Given the description of an element on the screen output the (x, y) to click on. 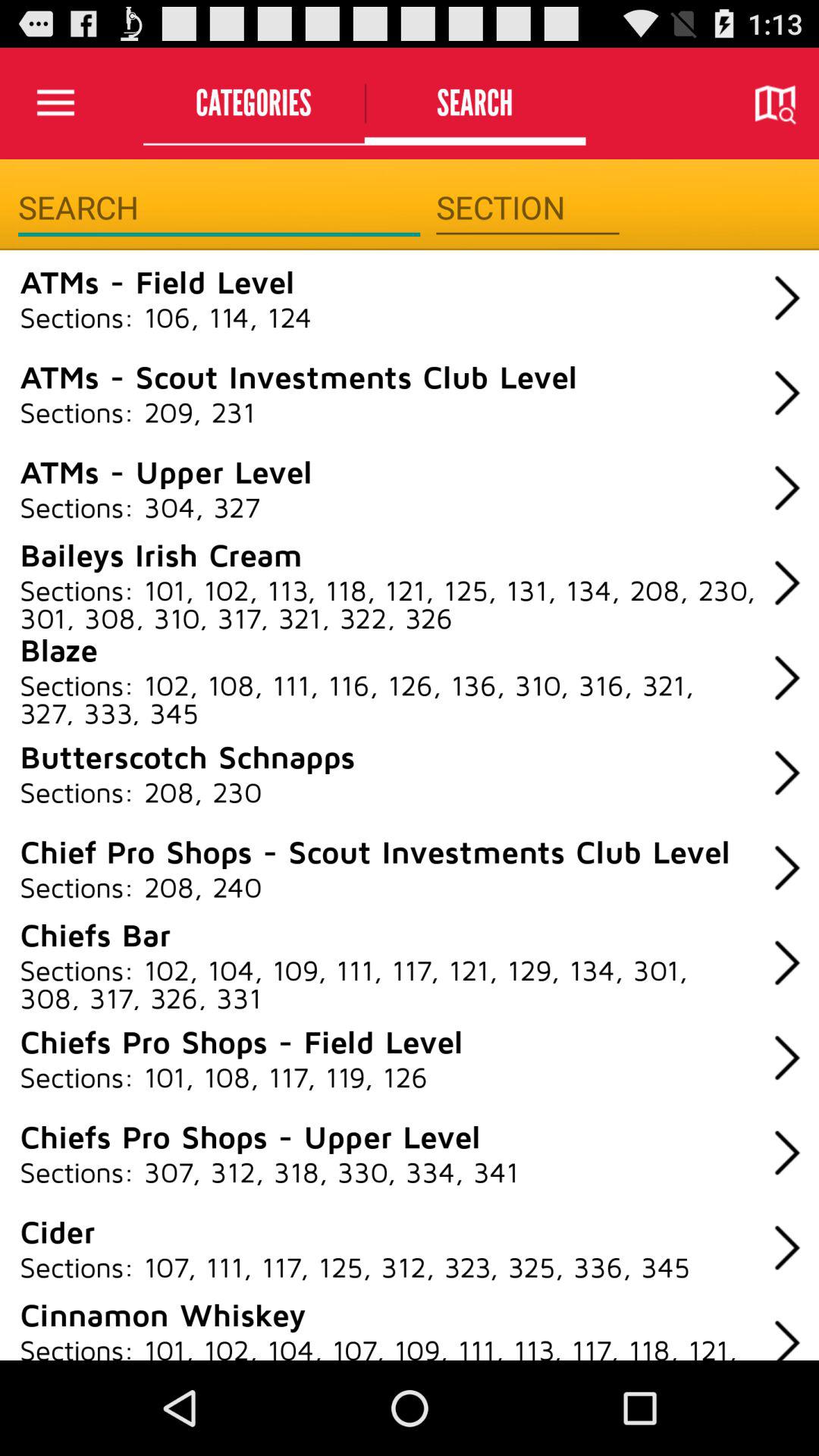
click the item below the sections 107 111 (162, 1314)
